Given the description of an element on the screen output the (x, y) to click on. 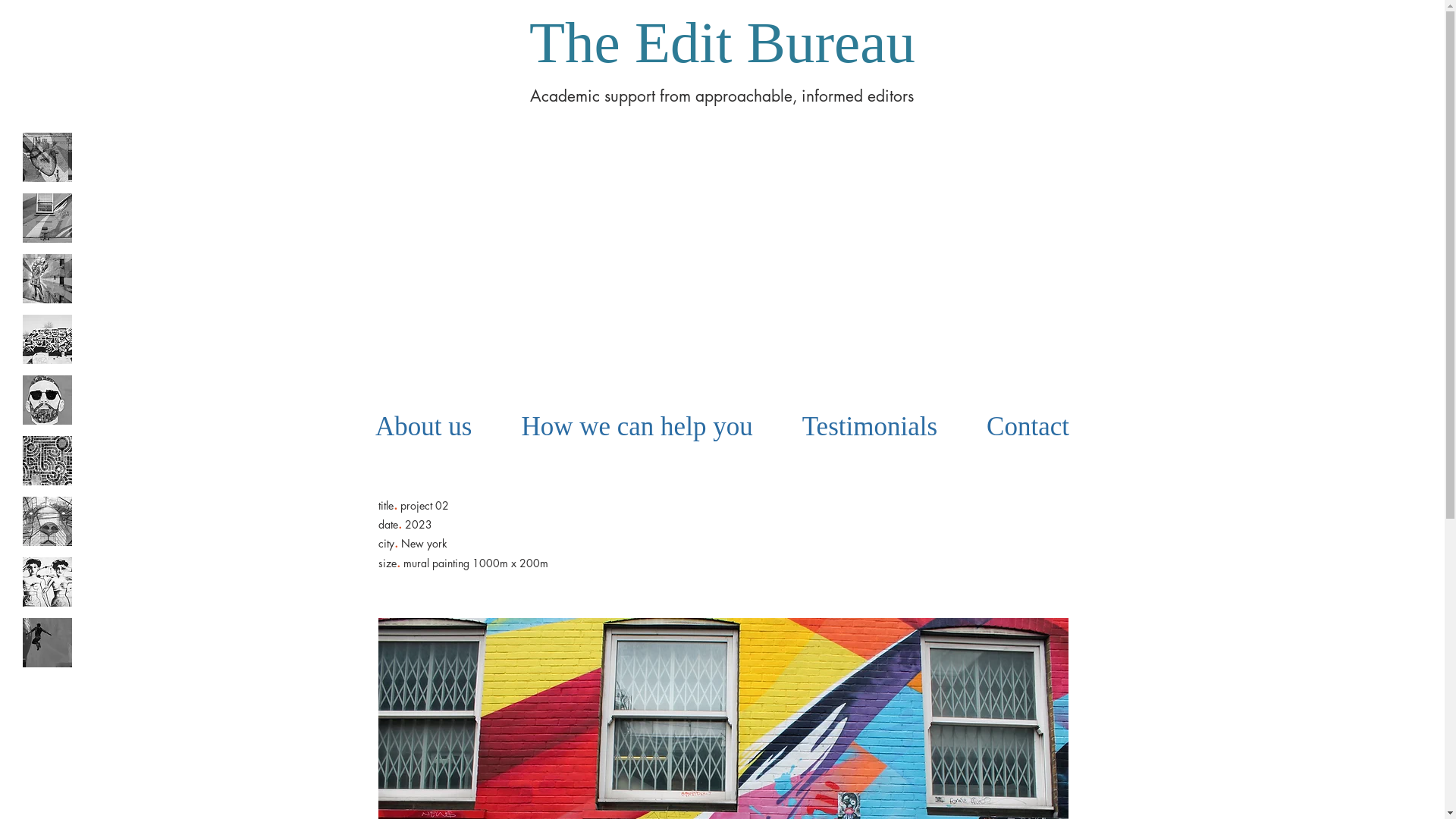
About us Element type: text (422, 426)
Contact Element type: text (1028, 426)
How we can help you Element type: text (636, 426)
Testimonials Element type: text (869, 426)
